Given the description of an element on the screen output the (x, y) to click on. 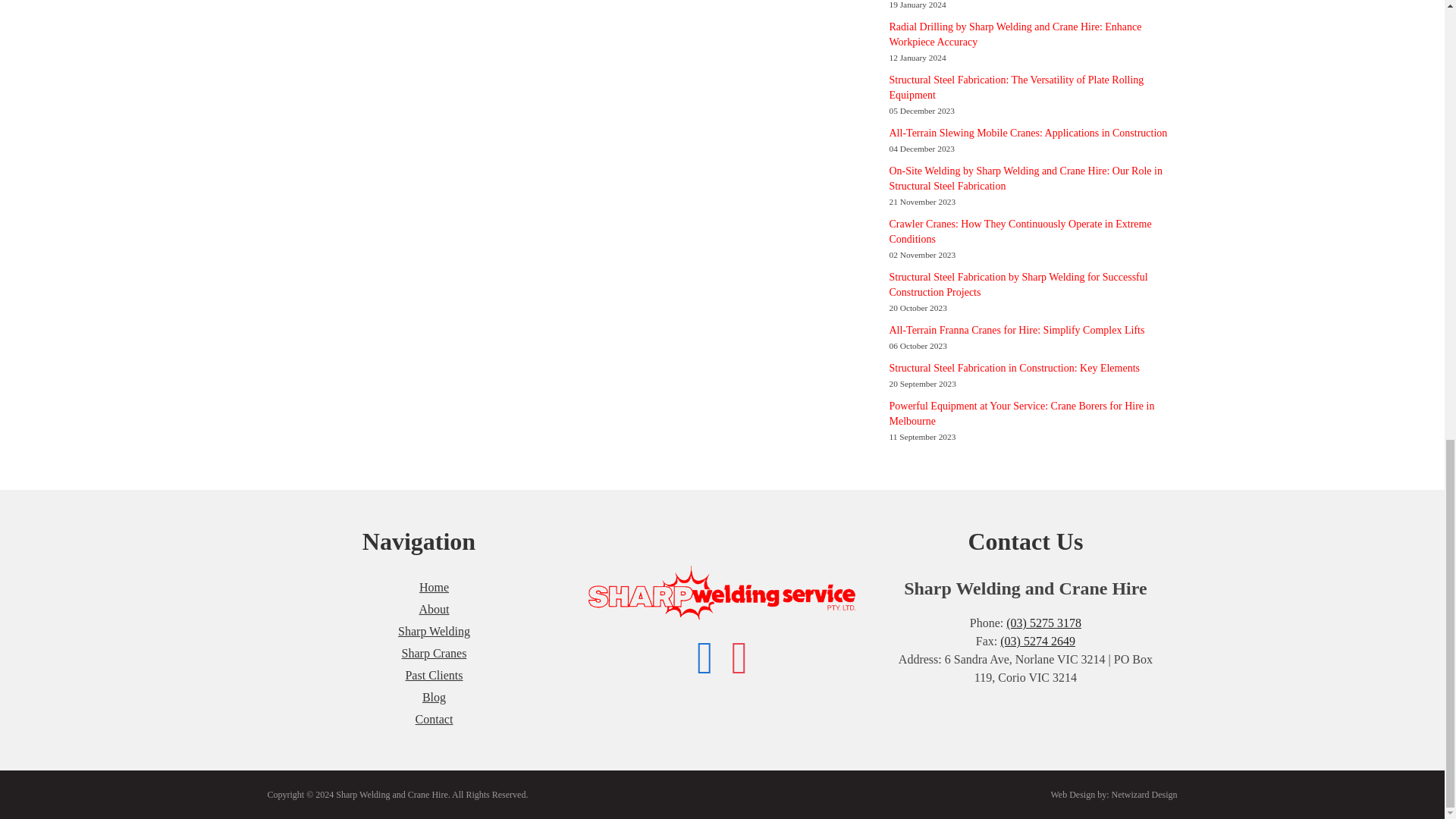
All-Terrain Franna Cranes for Hire: Simplify Complex Lifts (1016, 329)
Structural Steel Fabrication in Construction: Key Elements (1014, 367)
